Given the description of an element on the screen output the (x, y) to click on. 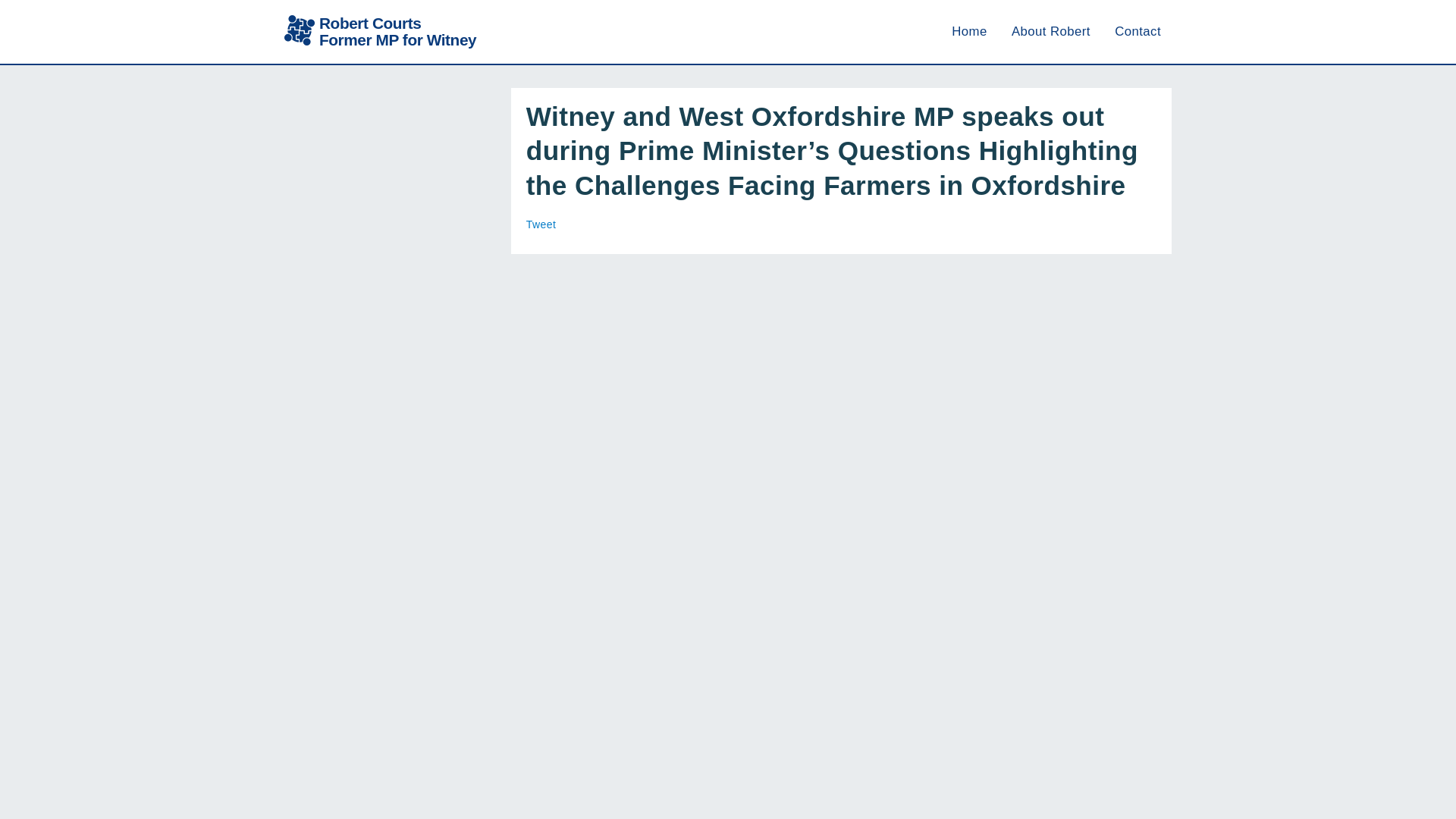
Contact (1137, 31)
About Robert (1050, 31)
Home (969, 31)
Tweet (379, 31)
